Given the description of an element on the screen output the (x, y) to click on. 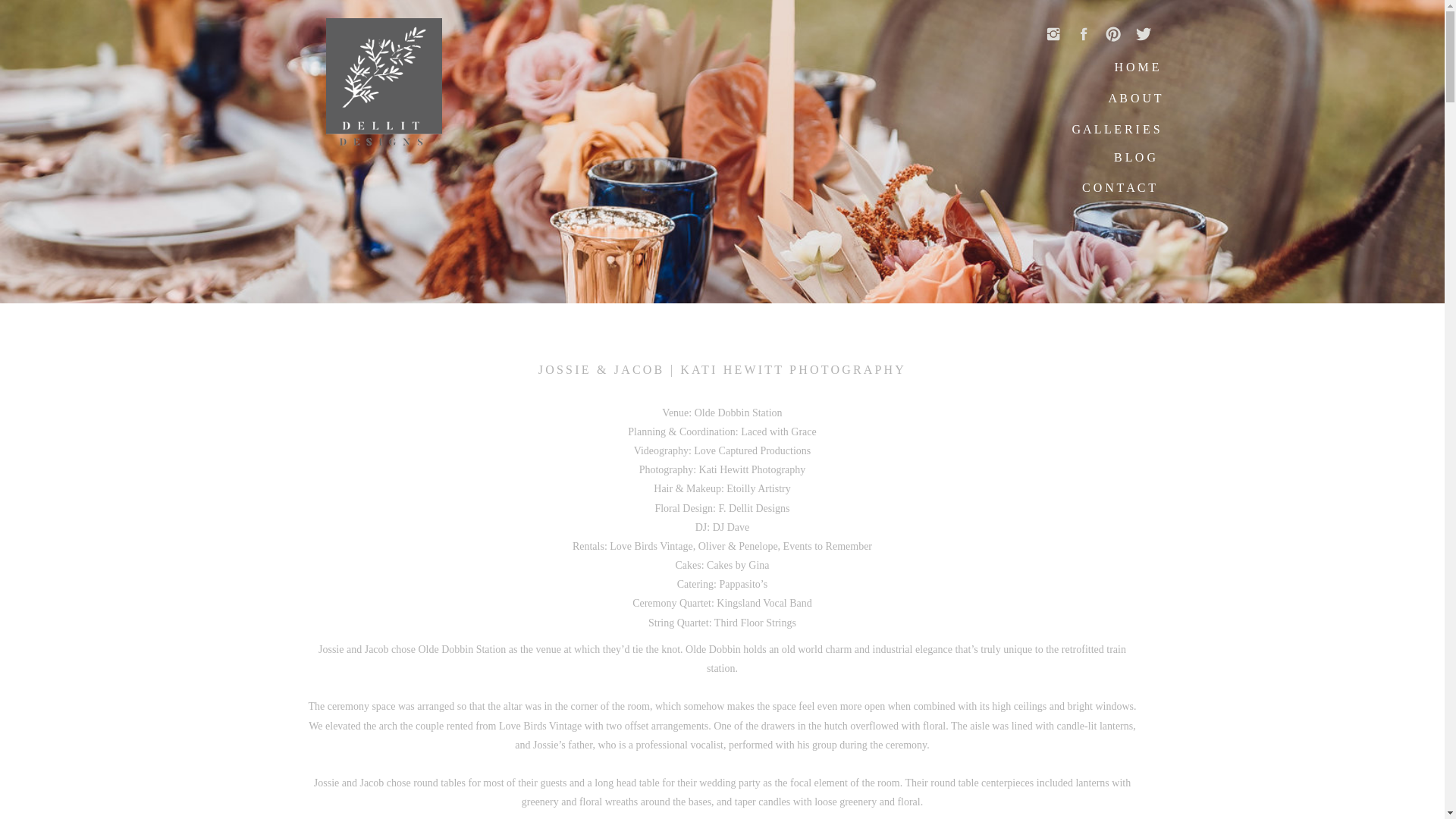
G A L L E R I E S (1115, 132)
B L O G (1134, 160)
C O N T A C T (1119, 190)
H O M E (1136, 70)
A B O U T (1134, 101)
